Given the description of an element on the screen output the (x, y) to click on. 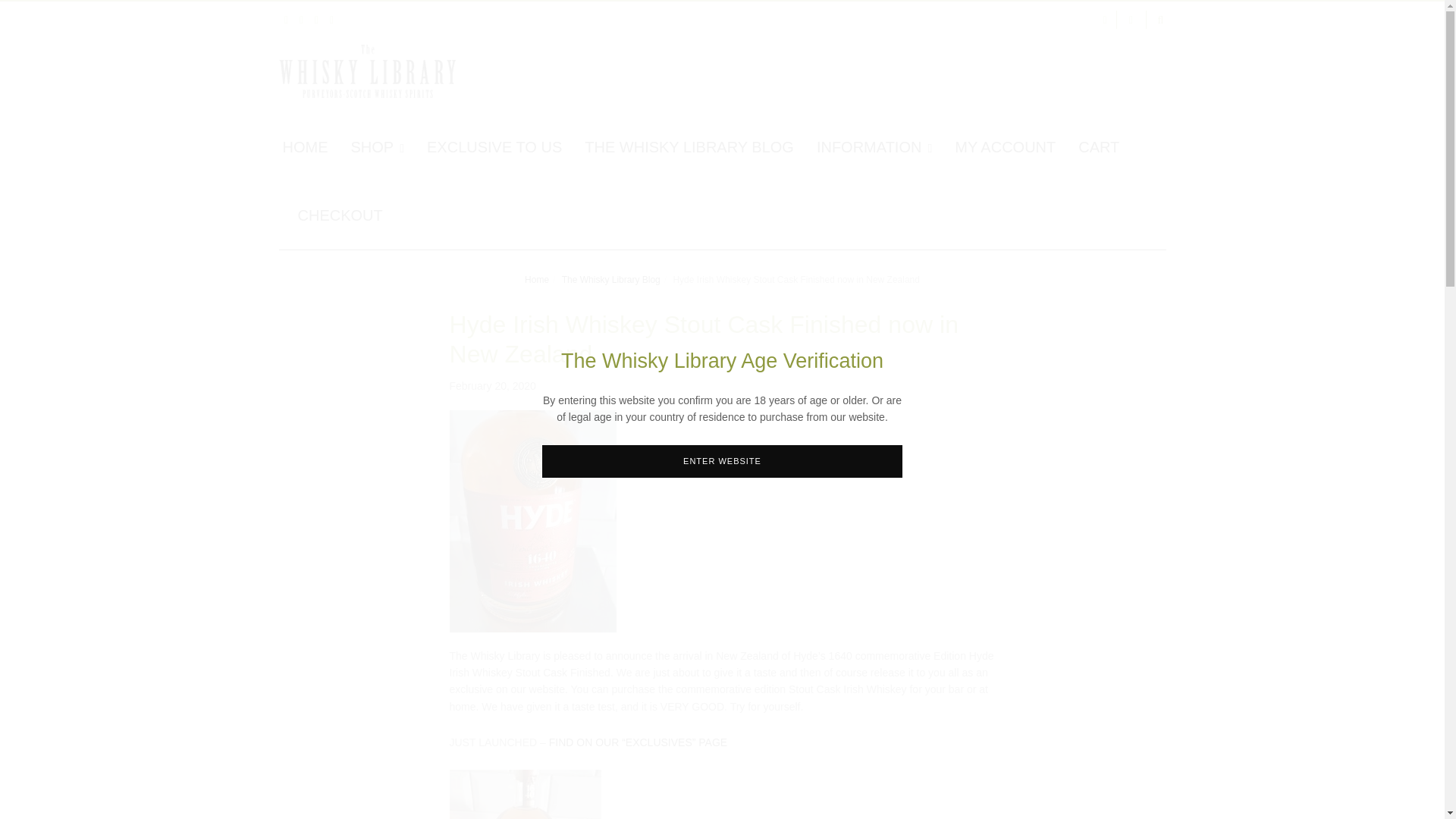
SHOP (378, 146)
Home (536, 279)
The Whisky Library (368, 70)
Enter Website (721, 461)
The Whisky Library Blog (611, 279)
